Given the description of an element on the screen output the (x, y) to click on. 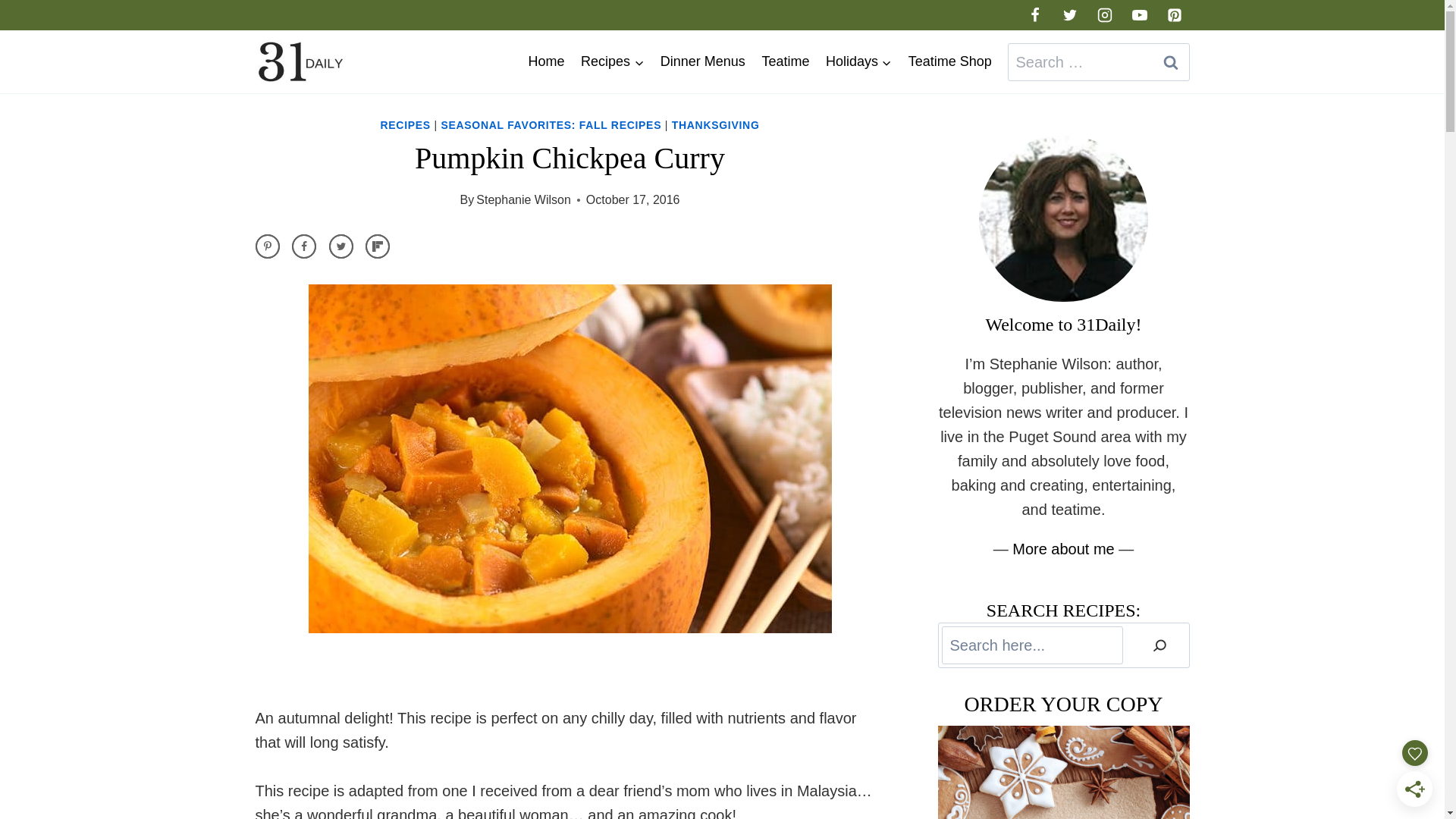
Holidays Element type: text (858, 61)
Home Element type: text (546, 61)
RECIPES Element type: text (405, 125)
Stephanie Wilson Element type: text (523, 199)
Recipes Element type: text (612, 61)
Share on Facebook Element type: hover (303, 246)
Share on Twitter Element type: hover (341, 246)
Save to Pinterest Element type: hover (266, 246)
More about me Element type: text (1063, 548)
Dinner Menus Element type: text (702, 61)
Search Element type: text (1170, 62)
Share on Flipboard Element type: hover (377, 246)
SEASONAL FAVORITES: FALL RECIPES Element type: text (550, 125)
Teatime Shop Element type: text (950, 61)
Teatime Element type: text (785, 61)
THANKSGIVING Element type: text (715, 125)
